Given the description of an element on the screen output the (x, y) to click on. 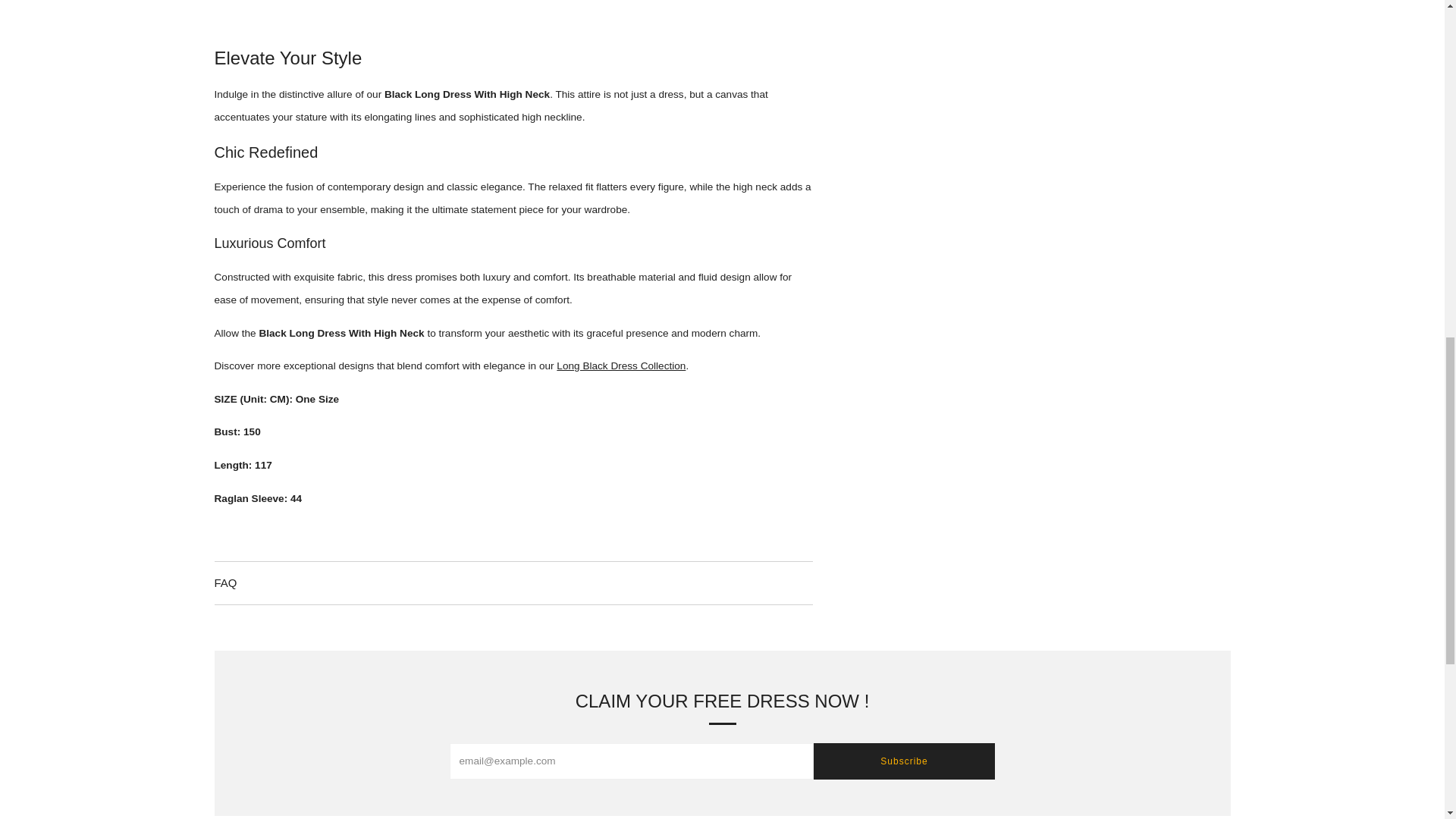
Long Black Dress Collection (620, 365)
Long Black Dress Collection (620, 365)
Subscribe (903, 760)
